Given the description of an element on the screen output the (x, y) to click on. 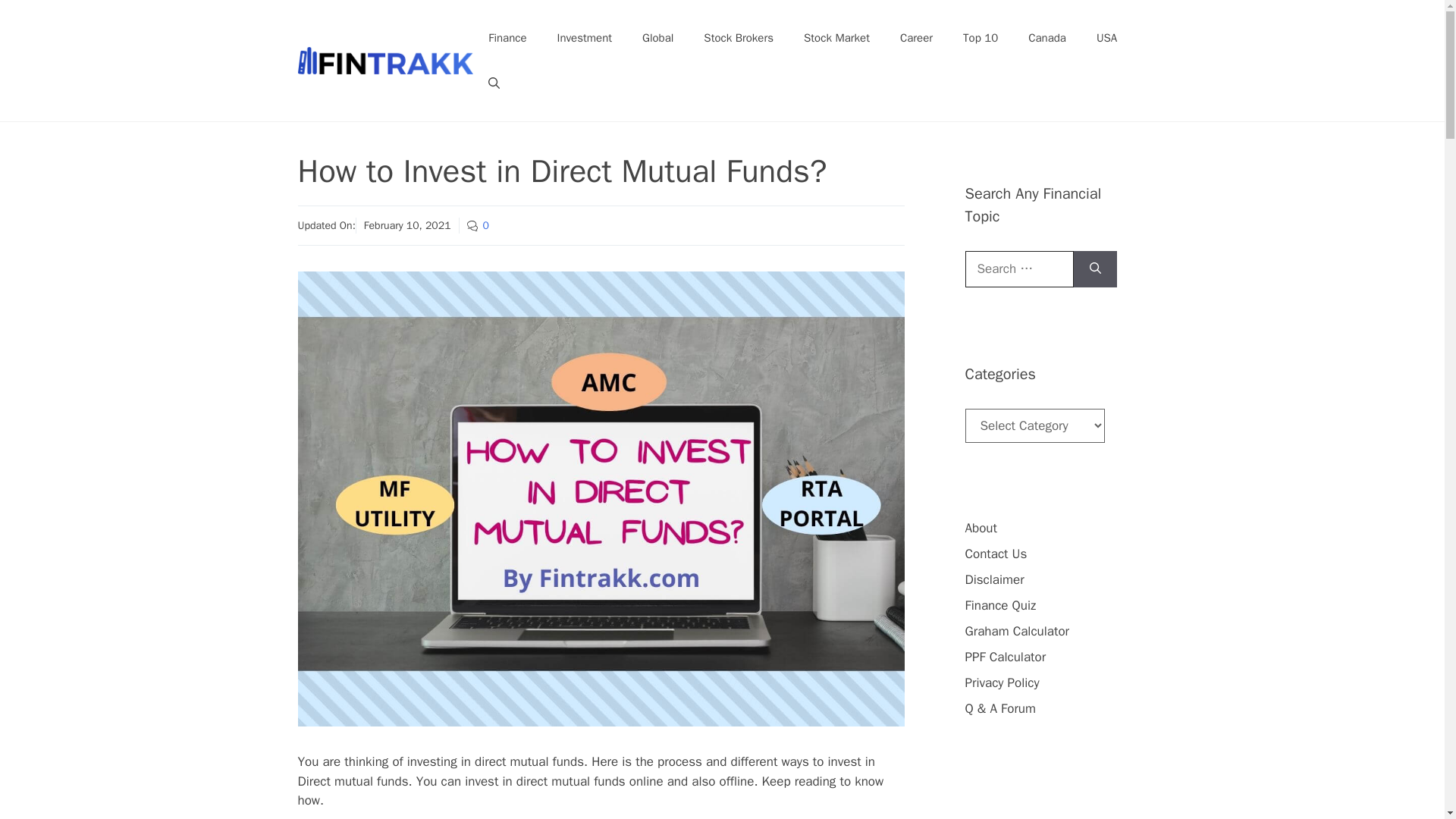
Stock Brokers (738, 37)
Canada (1047, 37)
Fintrakk (385, 60)
Investment (584, 37)
Fintrakk (385, 59)
Top 10 (980, 37)
Finance (507, 37)
Global (657, 37)
Stock Market (837, 37)
Career (916, 37)
